Given the description of an element on the screen output the (x, y) to click on. 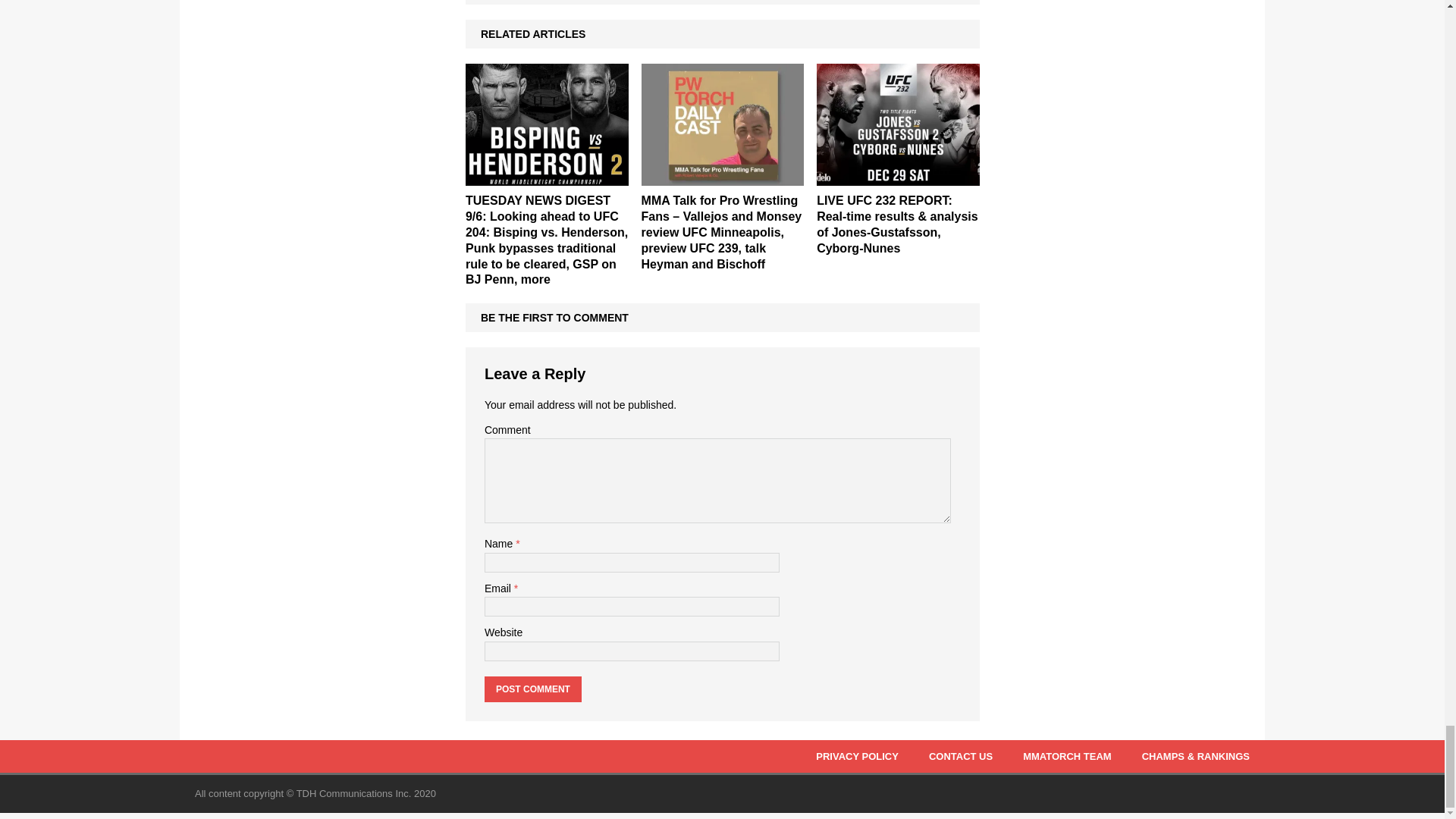
Post Comment (532, 688)
